Given the description of an element on the screen output the (x, y) to click on. 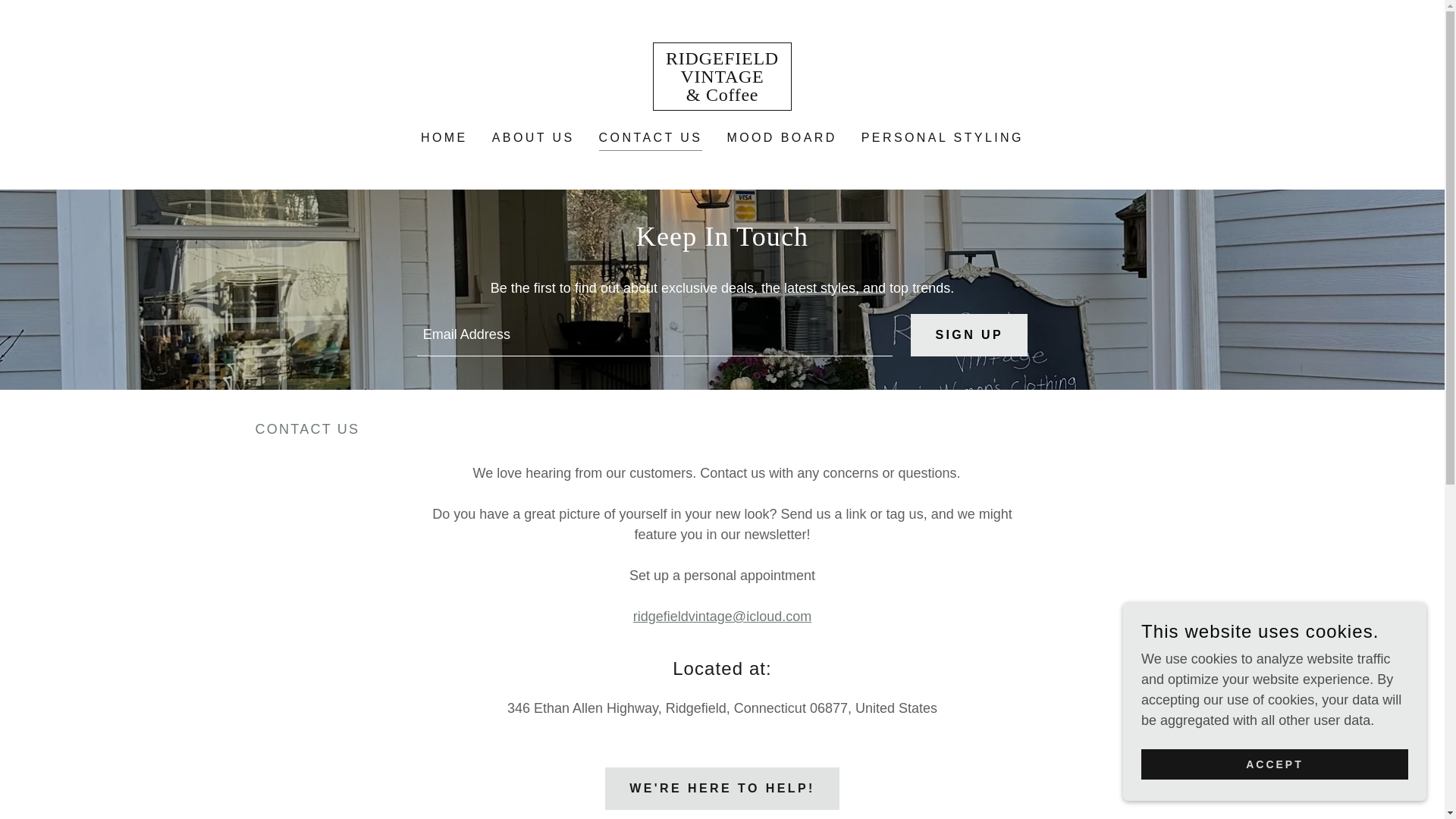
MOOD BOARD (781, 137)
PERSONAL STYLING (942, 137)
HOME (443, 137)
ACCEPT (1274, 764)
WE'RE HERE TO HELP! (722, 788)
ABOUT US (533, 137)
SIGN UP (969, 334)
CONTACT US (650, 139)
